Given the description of an element on the screen output the (x, y) to click on. 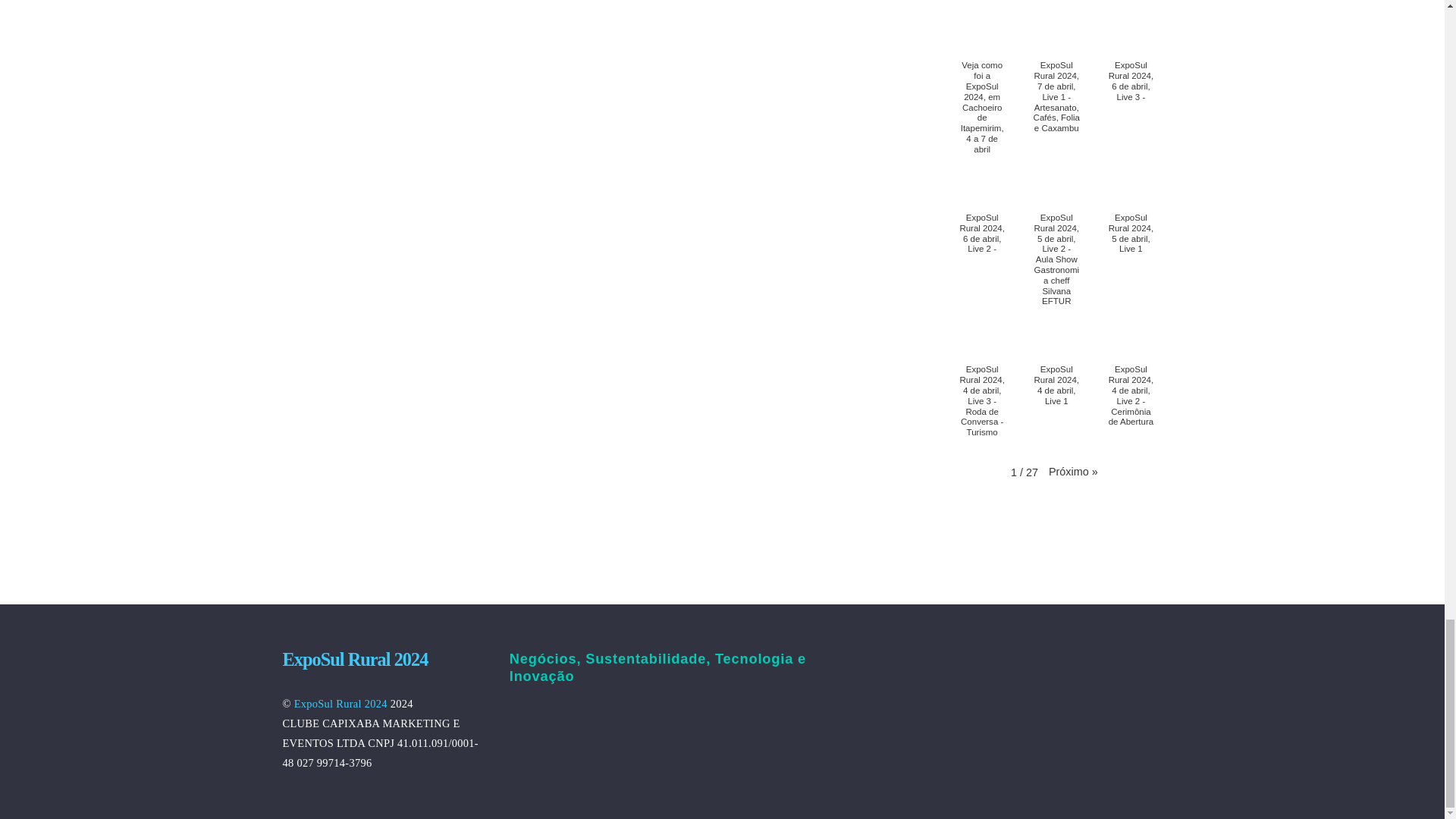
ExpoSul  Rural 2024 (355, 659)
